Given the description of an element on the screen output the (x, y) to click on. 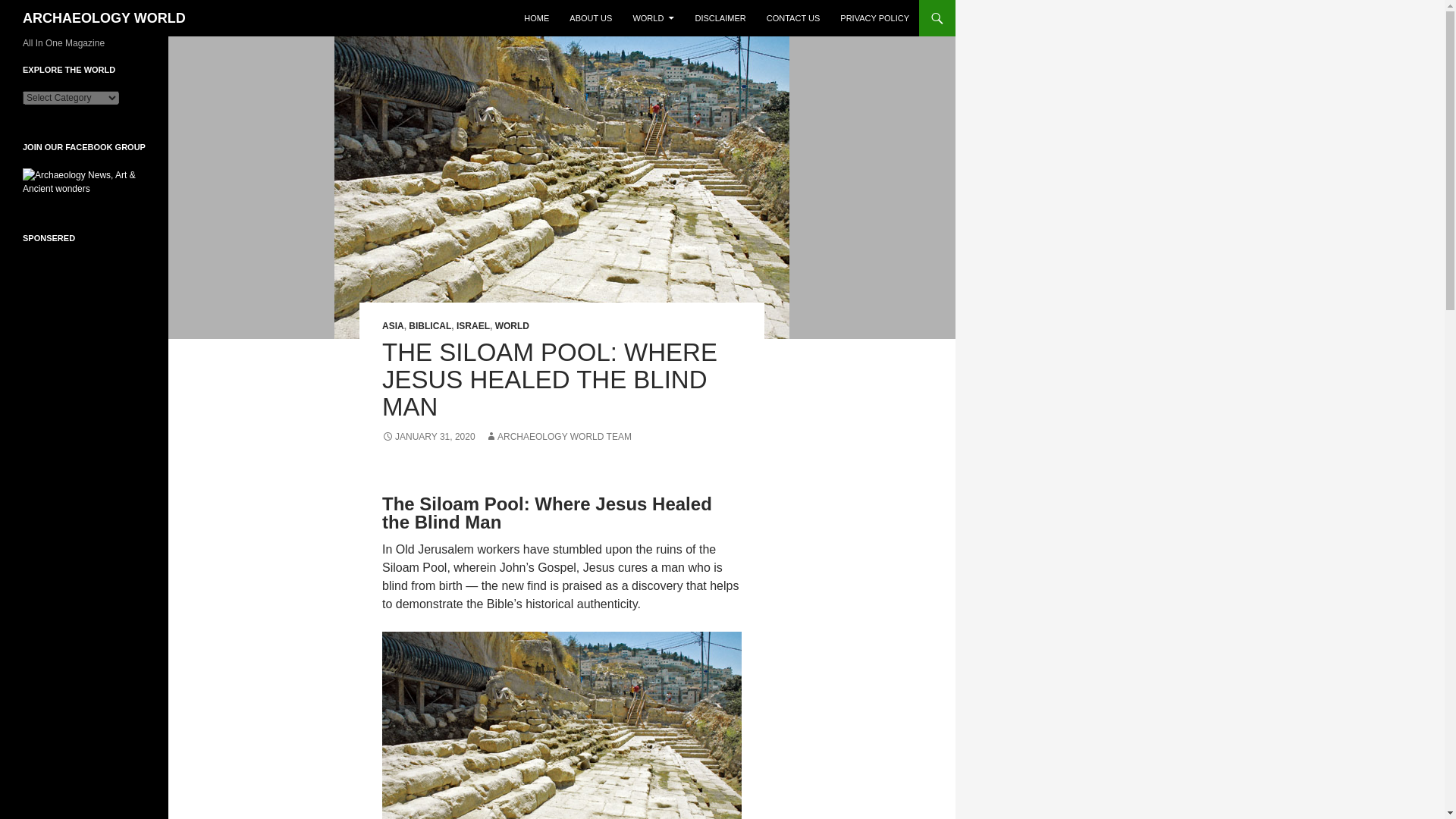
ARCHAEOLOGY WORLD (104, 18)
ABOUT US (590, 18)
WORLD (652, 18)
HOME (536, 18)
